Given the description of an element on the screen output the (x, y) to click on. 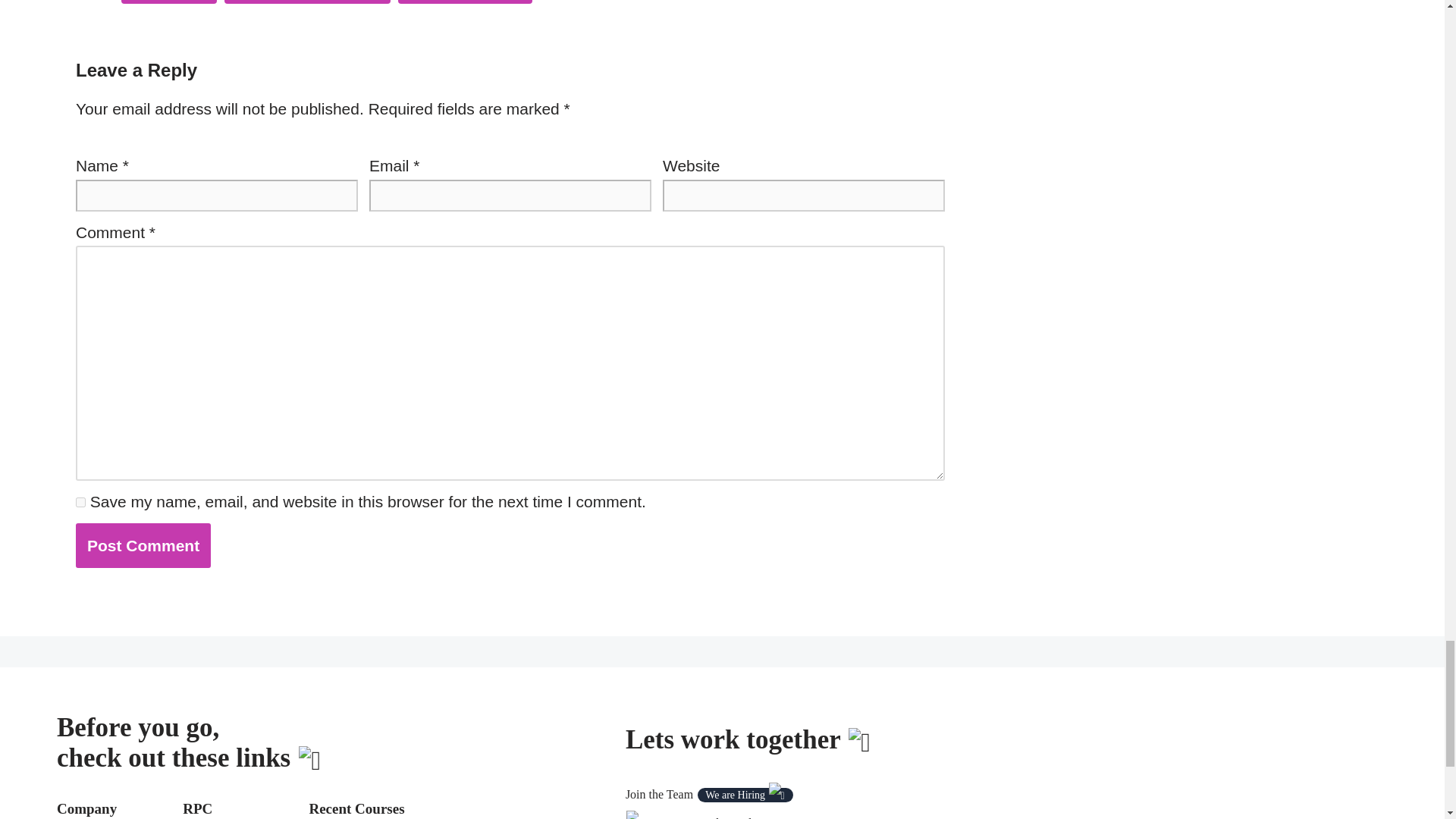
yes (80, 501)
Post Comment (143, 545)
